Given the description of an element on the screen output the (x, y) to click on. 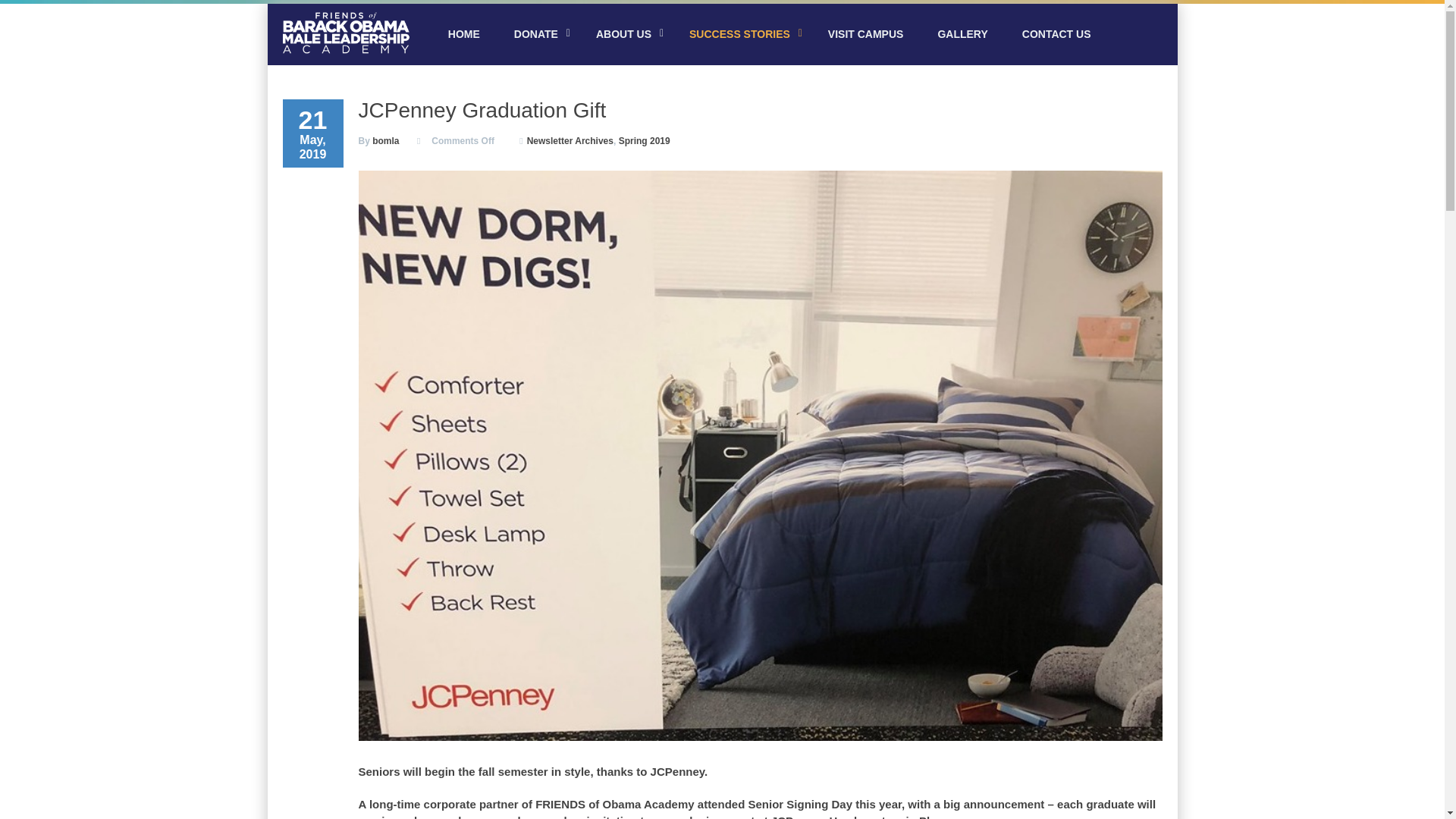
CONTACT US (1056, 33)
DONATE (537, 33)
VISIT CAMPUS (865, 33)
bomla (385, 140)
SUCCESS STORIES (741, 33)
Spring 2019 (643, 140)
GALLERY (962, 33)
Newsletter Archives (569, 140)
ABOUT US (624, 33)
HOME (463, 33)
